Given the description of an element on the screen output the (x, y) to click on. 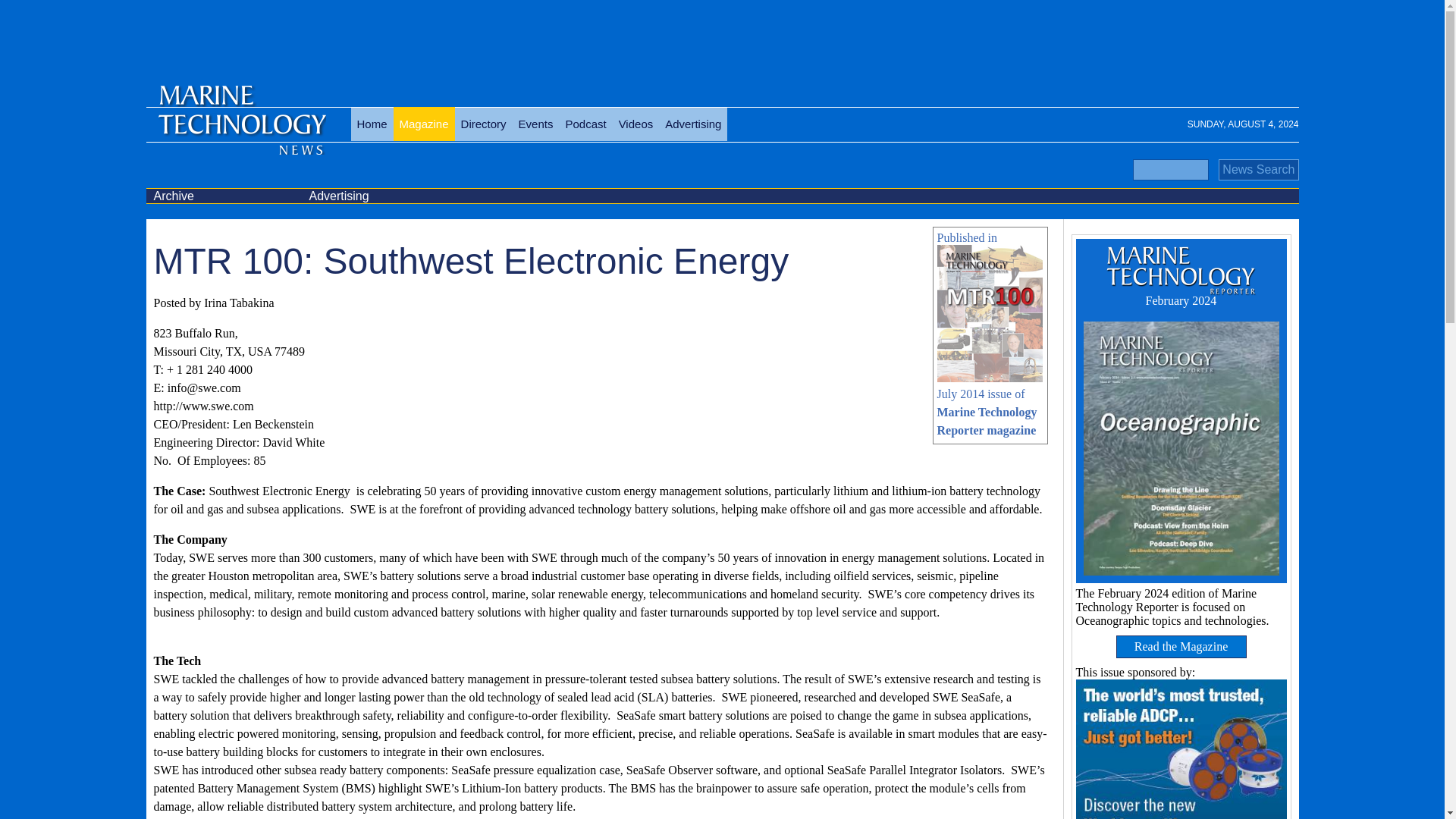
News Search (1258, 169)
Podcast (585, 123)
Maritime technology news (239, 132)
Magazine (423, 123)
Advertising (379, 195)
Archive (223, 195)
Events (535, 123)
Advertising (692, 123)
February 2024 (1180, 276)
Home (371, 123)
Directory (483, 123)
News Search (1258, 169)
Read the Magazine (1181, 646)
Videos (635, 123)
